Given the description of an element on the screen output the (x, y) to click on. 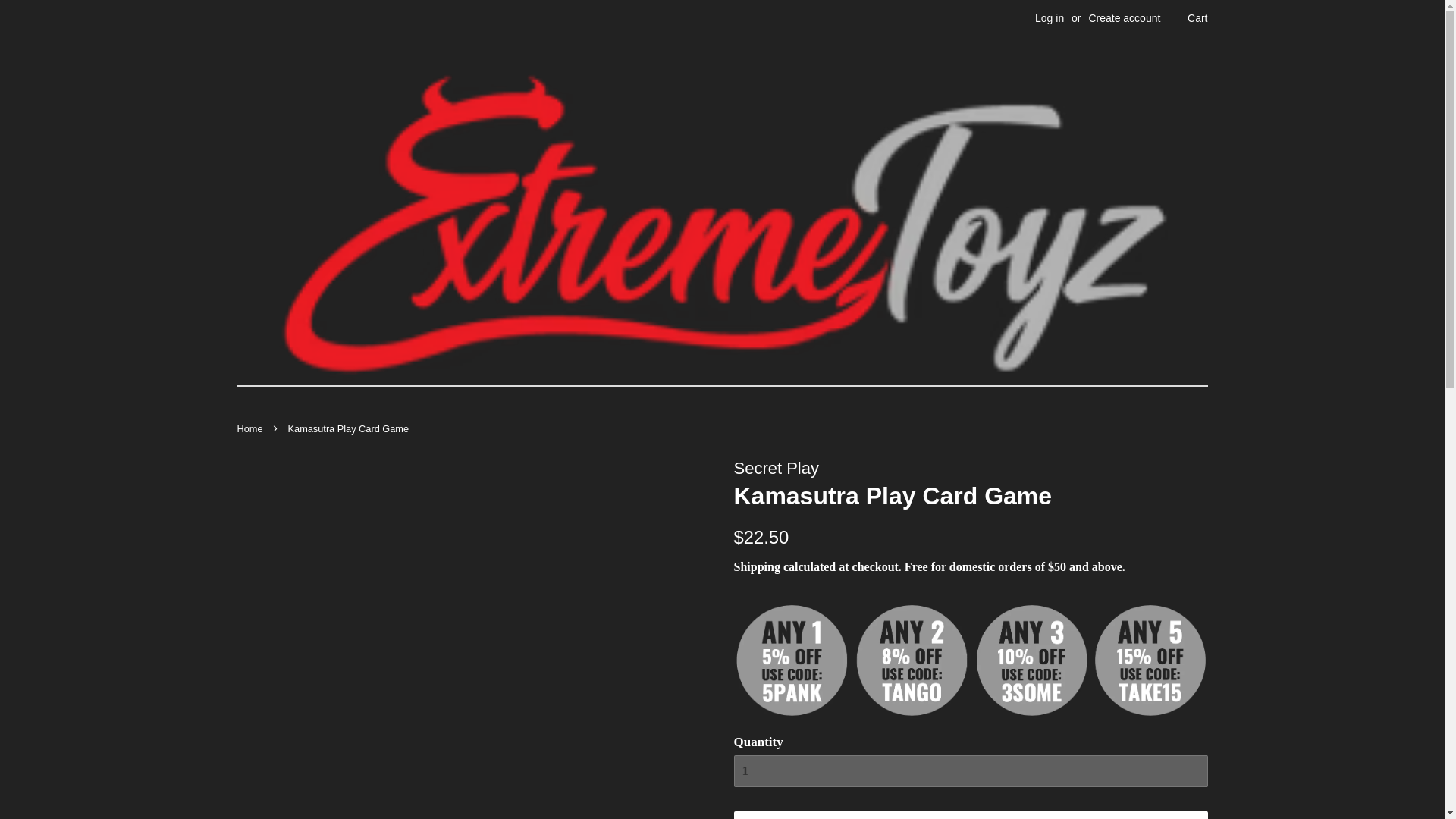
ADD TO CART (970, 815)
Shipping (756, 566)
Create account (1123, 18)
Home (250, 428)
Cart (1197, 18)
1 (970, 771)
Log in (1049, 18)
Back to the frontpage (250, 428)
